Given the description of an element on the screen output the (x, y) to click on. 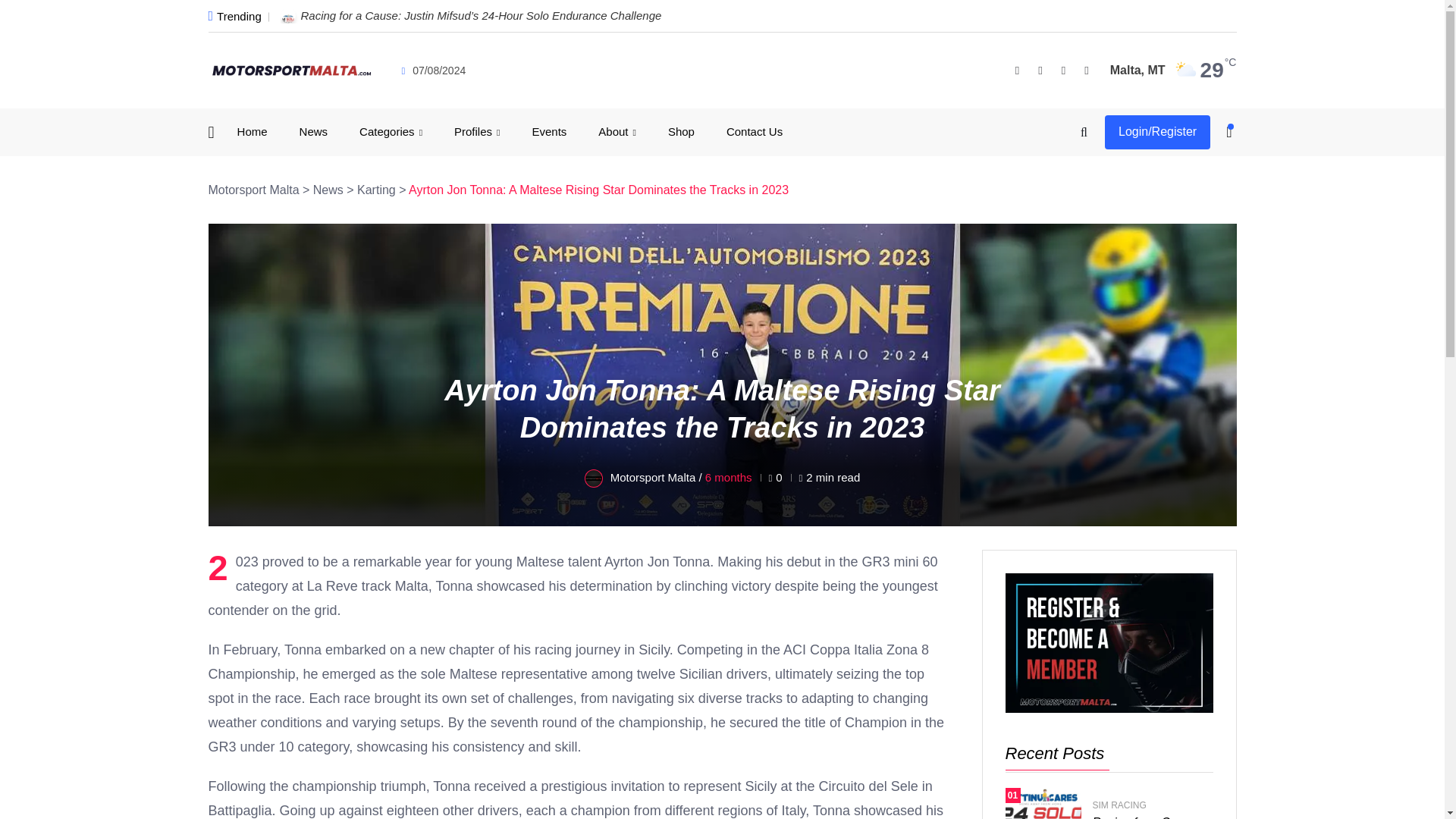
Go to News. (328, 189)
Go to Motorsport Malta. (253, 189)
ilvikingu (635, 784)
Go to the Karting Category archives. (376, 189)
Categories (390, 132)
